Given the description of an element on the screen output the (x, y) to click on. 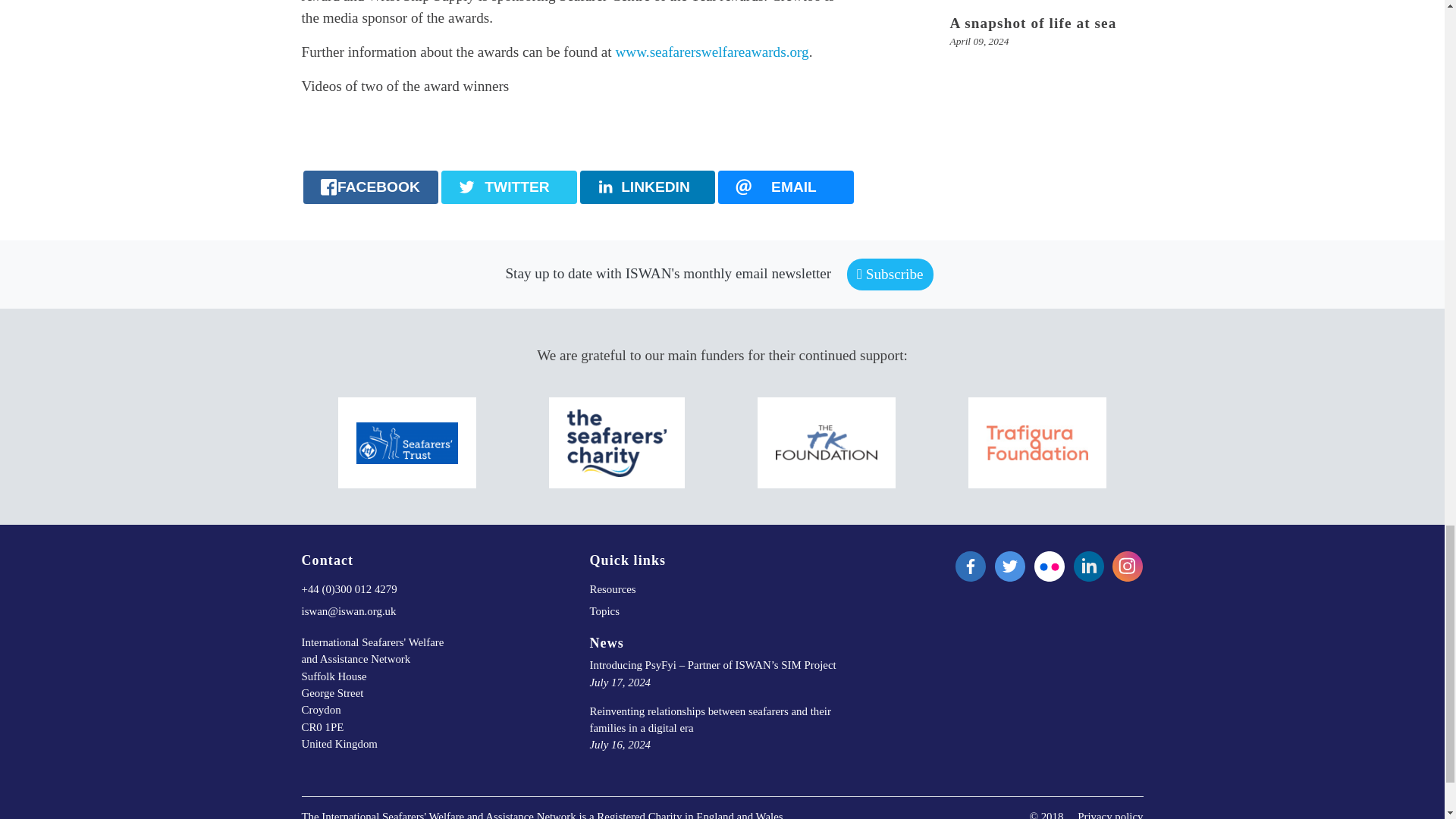
The TK Foundation (826, 442)
Trafigura Foundation (1036, 442)
The Seafarers' Charity (616, 441)
LINKEDIN (646, 186)
www.seafarerswelfareawards.org (712, 51)
ITF Seafarers' Trust (407, 443)
The Seafarers' Charity (616, 443)
Trafigura Foundation (1036, 441)
TWITTER (508, 186)
EMAIL (785, 186)
ITF Seafarers' Trust (407, 441)
The TK Foundation (826, 441)
FACEBOOK (370, 186)
